Given the description of an element on the screen output the (x, y) to click on. 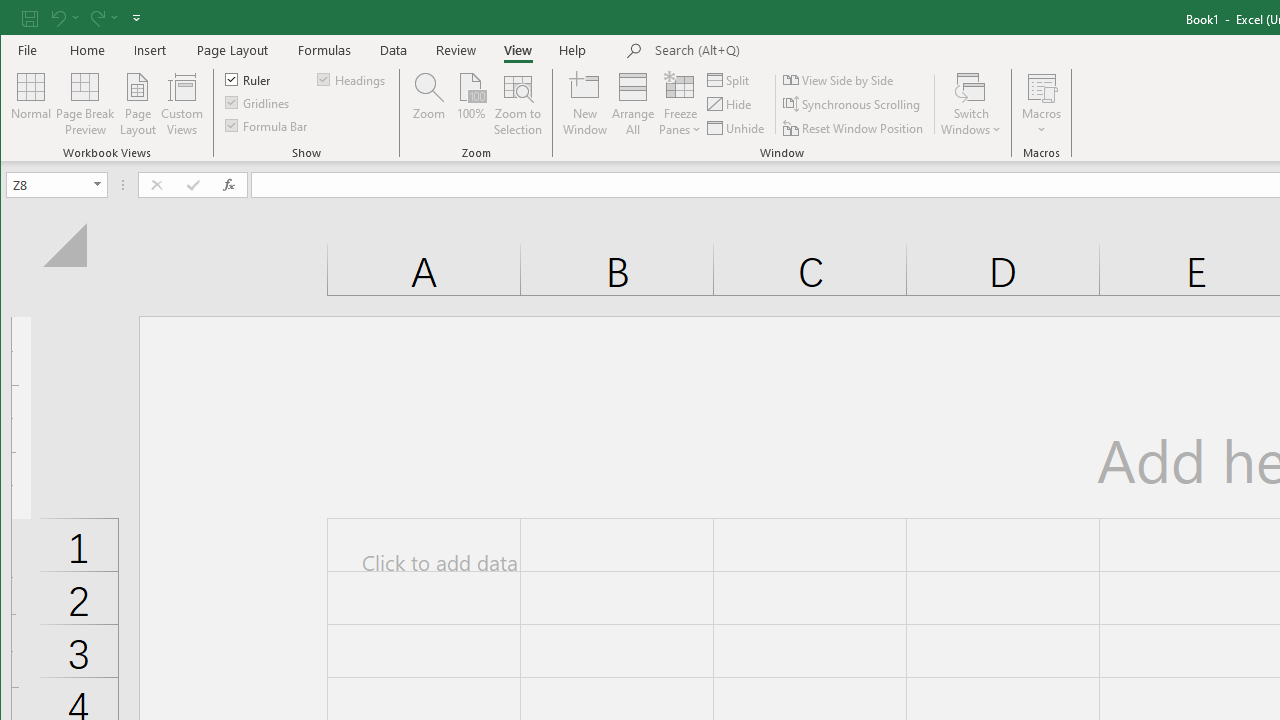
Data (394, 50)
Page Break Preview (84, 104)
Hide (730, 103)
Ruler (248, 78)
Headings (352, 78)
Custom Views... (182, 104)
Microsoft search (794, 51)
System (18, 18)
Page Layout (137, 104)
System (18, 18)
Switch Windows (971, 104)
New Window (585, 104)
Zoom... (429, 104)
Reset Window Position (854, 127)
Zoom to Selection (518, 104)
